Given the description of an element on the screen output the (x, y) to click on. 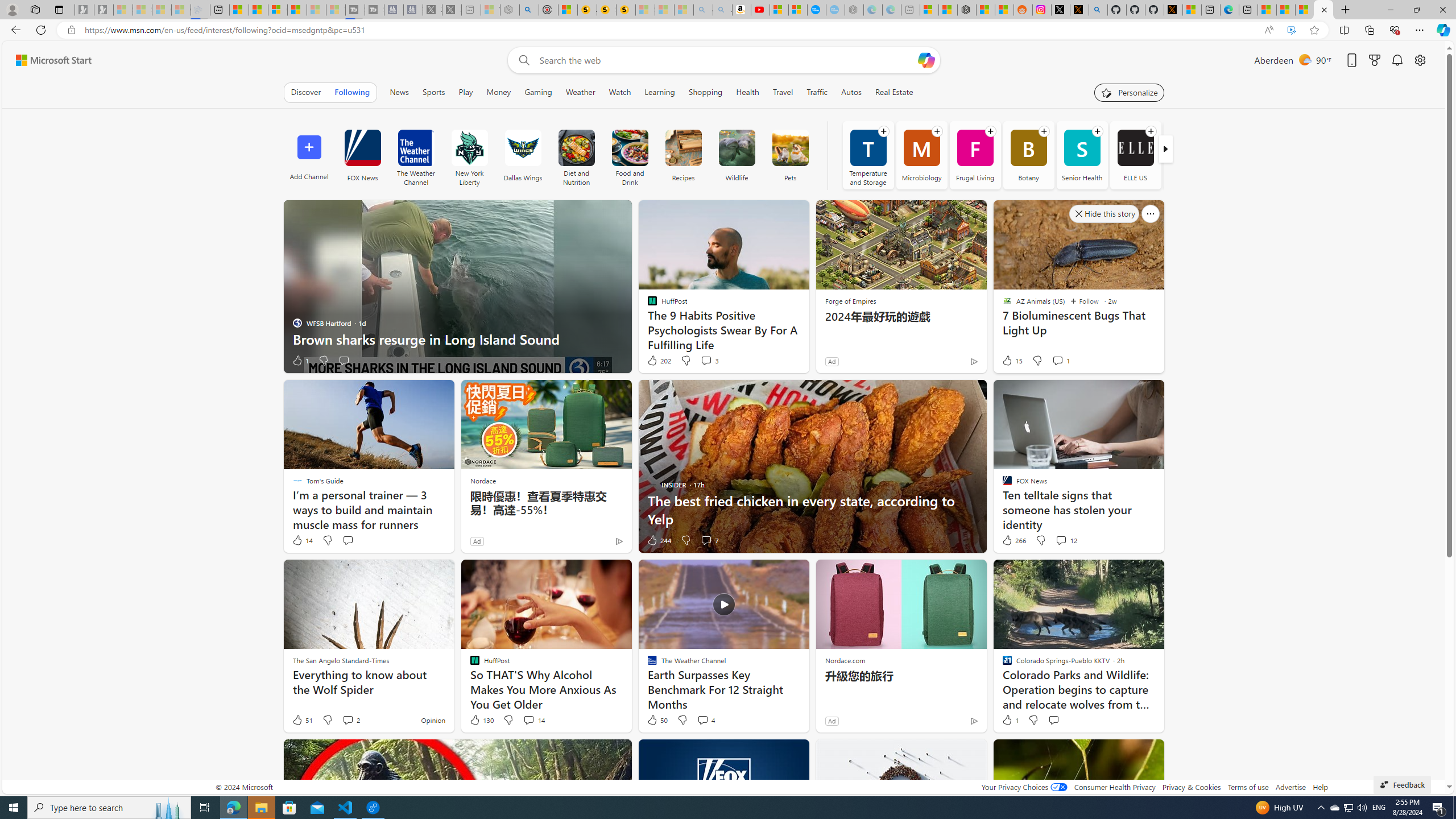
50 Like (657, 719)
Amazon Echo Dot PNG - Search Images - Sleeping (721, 9)
Temperature and Storage (868, 155)
Help (1320, 786)
Follow (1084, 300)
Enhance video (1291, 29)
Senior Health (1081, 155)
Health (747, 92)
